Given the description of an element on the screen output the (x, y) to click on. 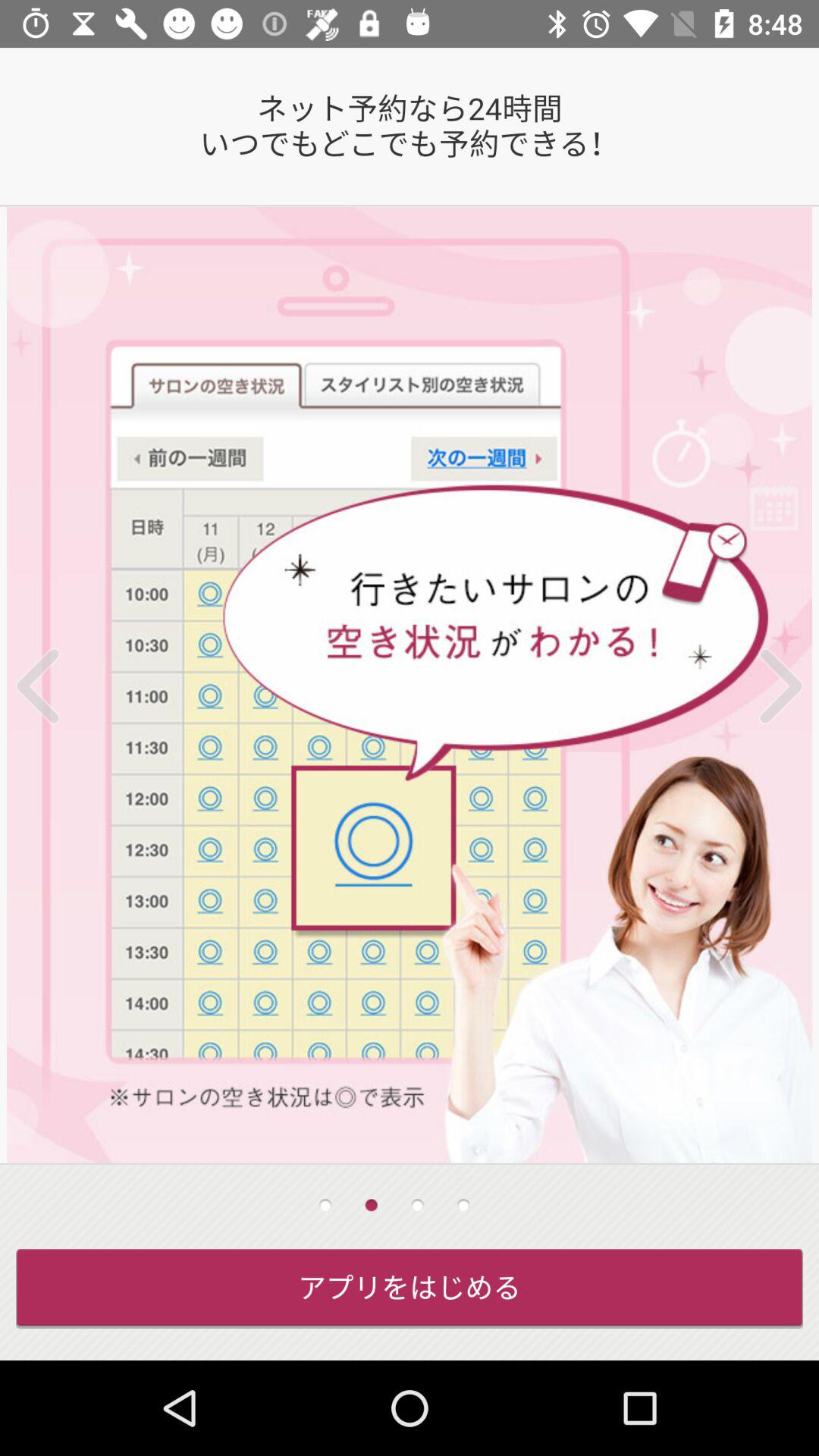
click icon on the right (761, 685)
